Given the description of an element on the screen output the (x, y) to click on. 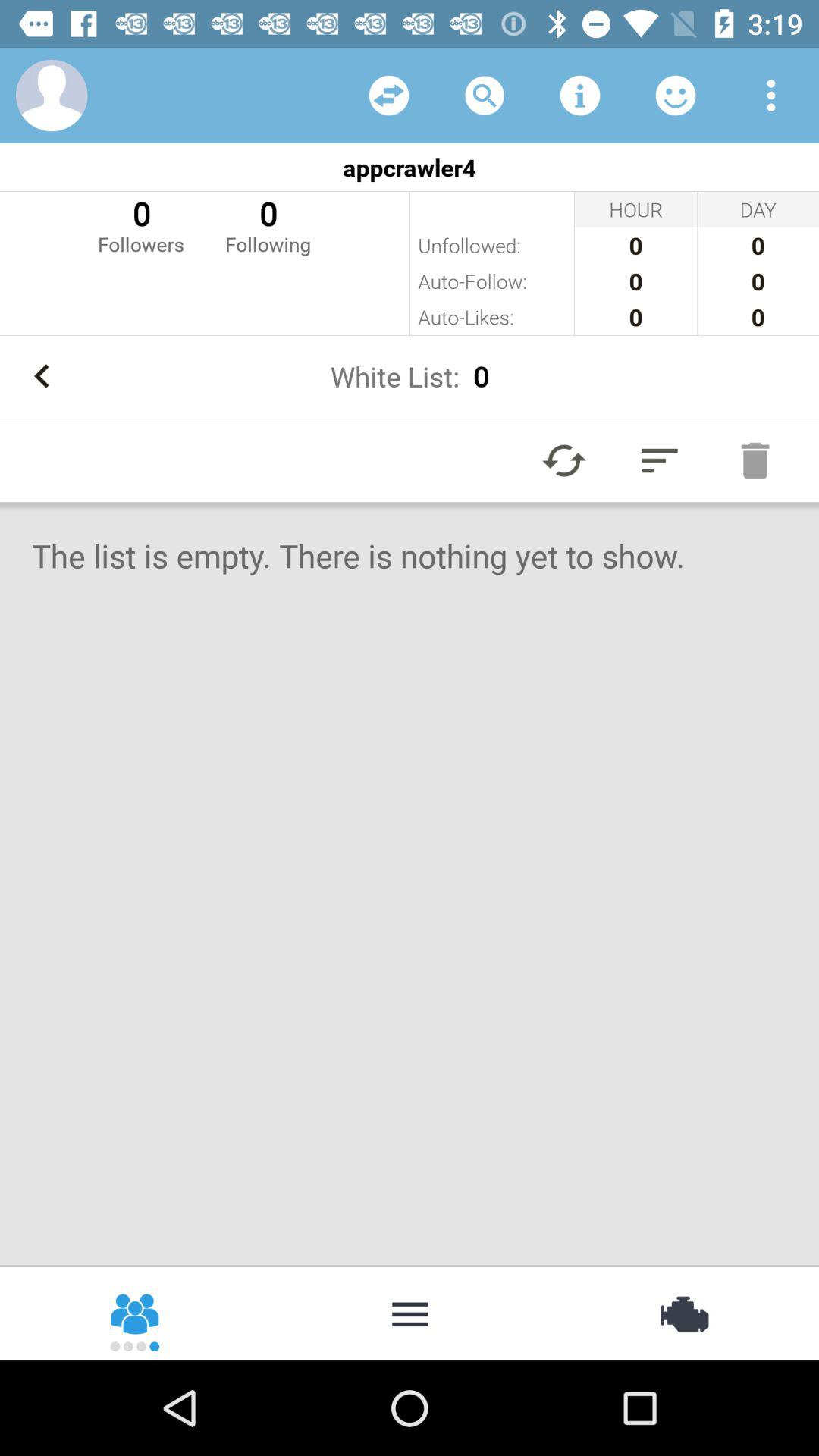
information (579, 95)
